Given the description of an element on the screen output the (x, y) to click on. 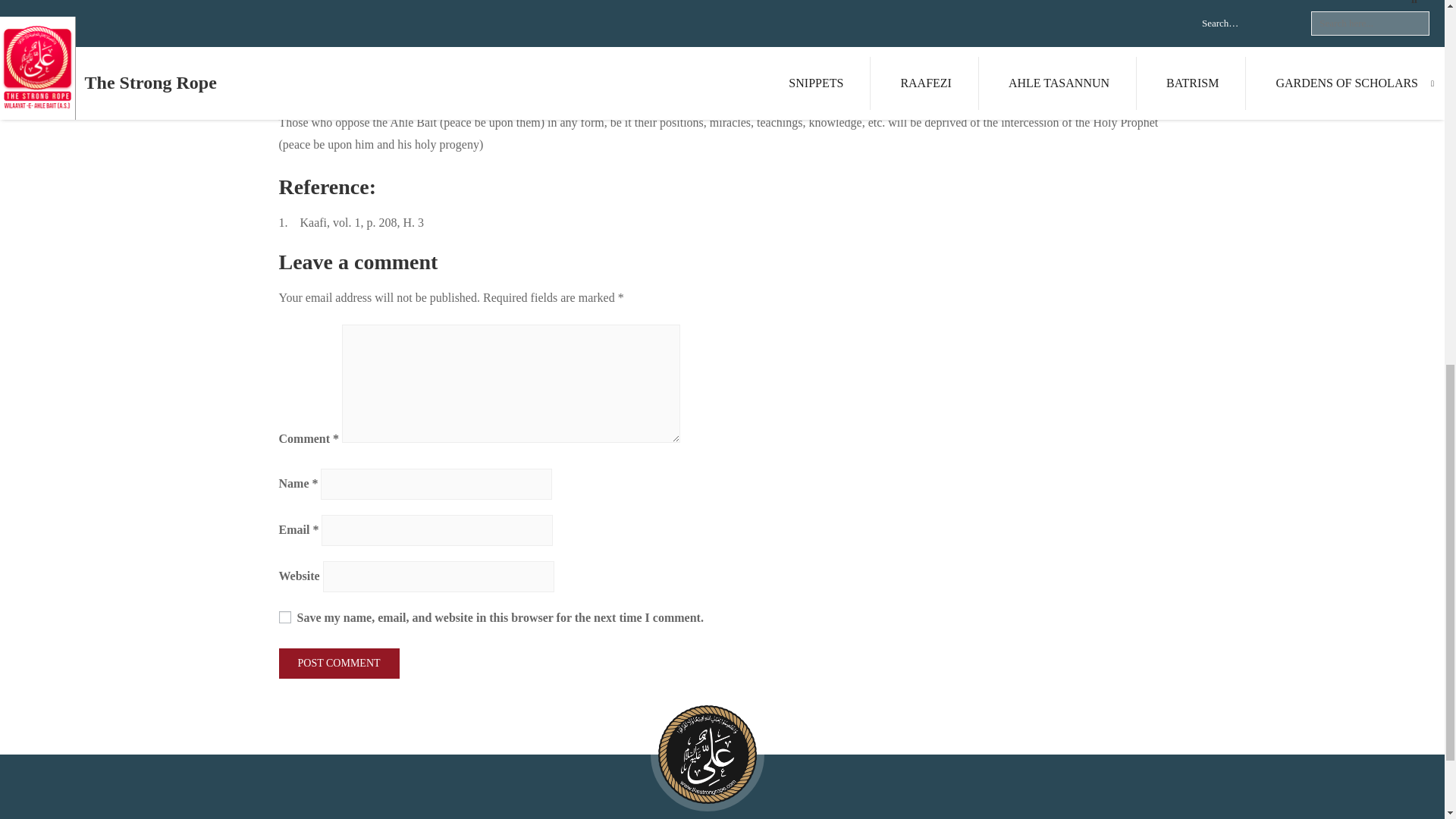
yes (285, 616)
Post Comment (338, 662)
Post Comment (338, 662)
